Given the description of an element on the screen output the (x, y) to click on. 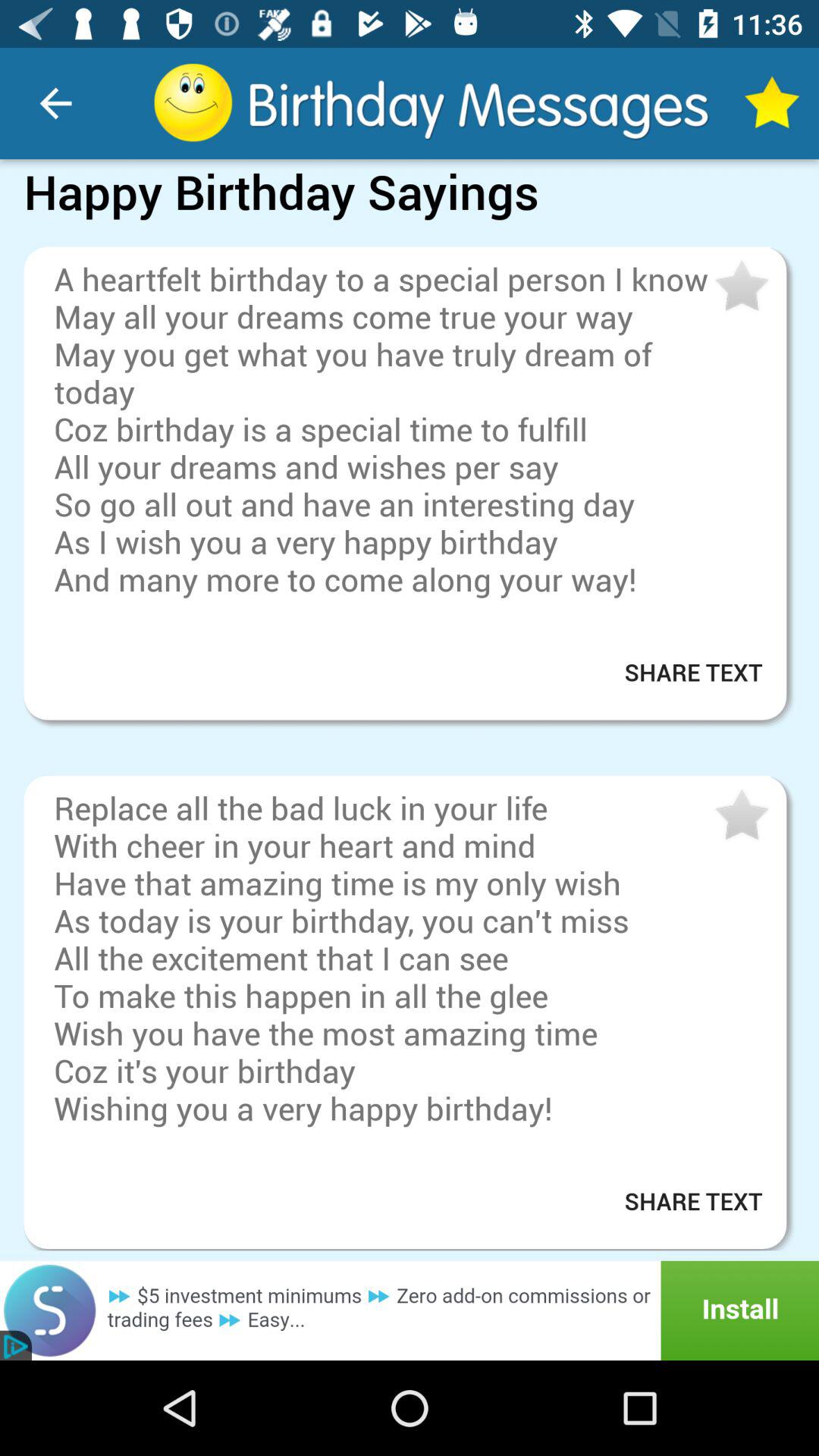
add to my favorites bar (740, 286)
